Given the description of an element on the screen output the (x, y) to click on. 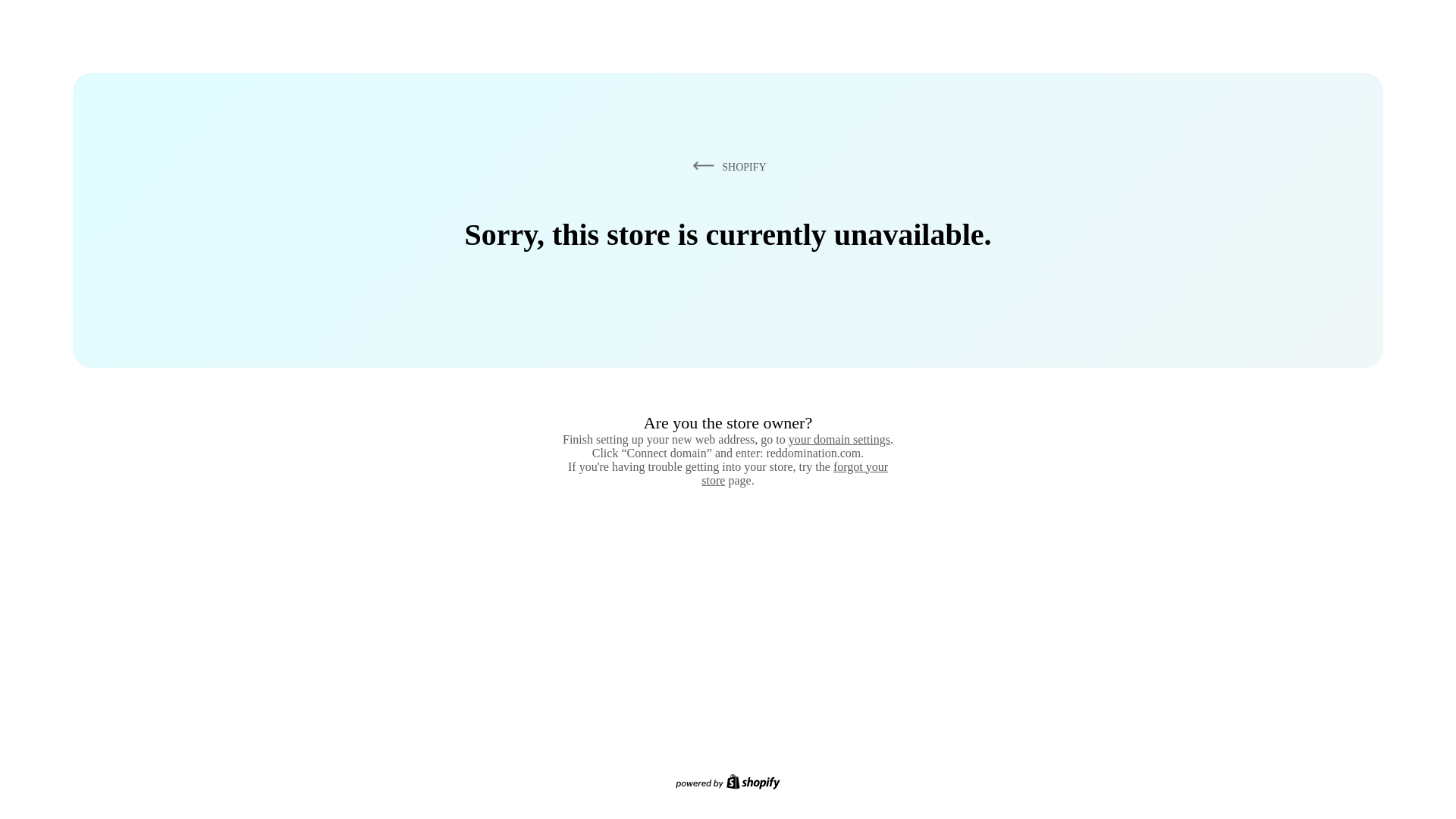
forgot your store (794, 473)
SHOPIFY (726, 166)
your domain settings (839, 439)
